Given the description of an element on the screen output the (x, y) to click on. 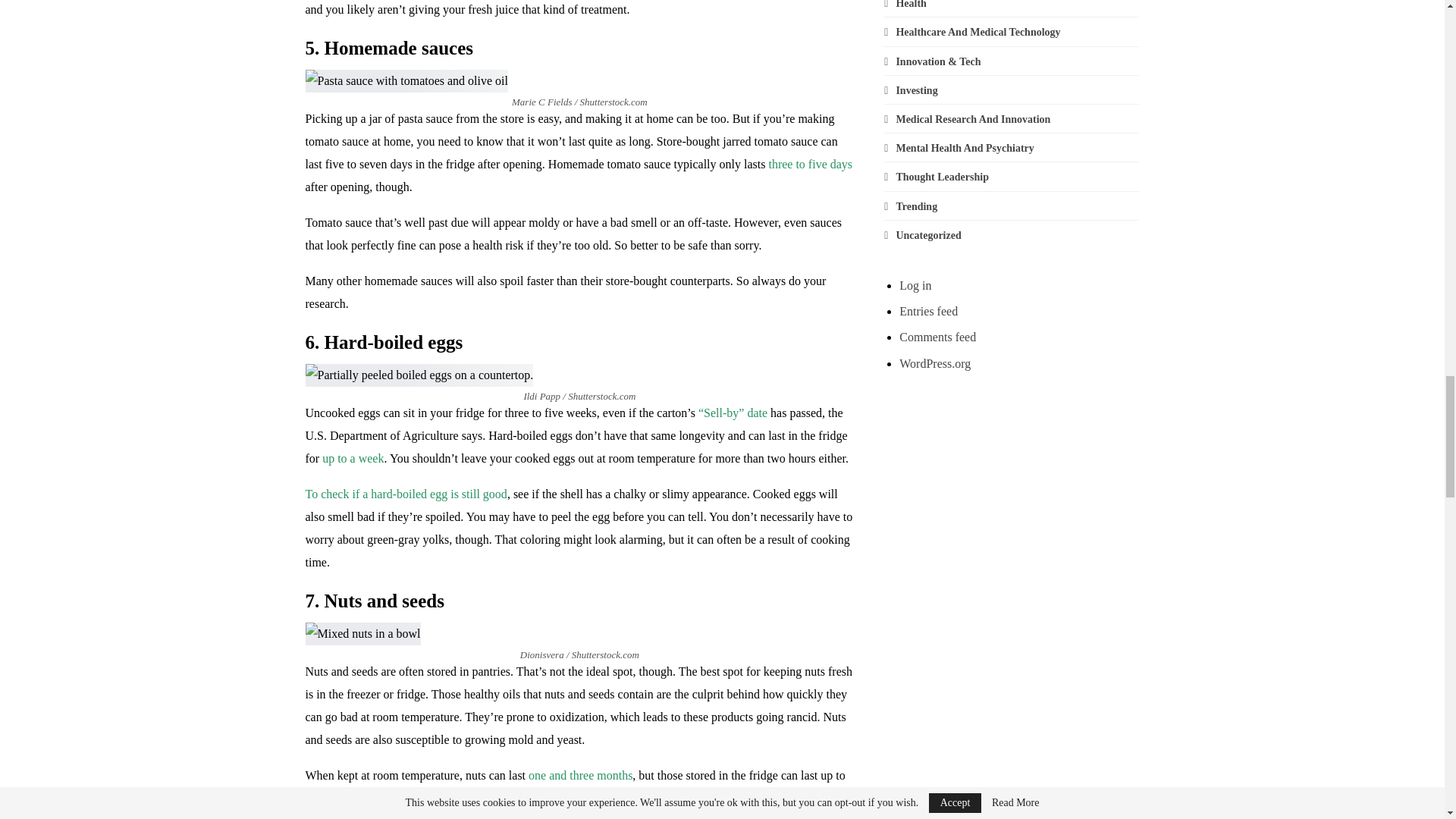
three to five days (809, 164)
Spoiled nuts (697, 797)
up to a week (352, 458)
To check if a hard-boiled egg is still good (405, 493)
one and three months (579, 775)
